Given the description of an element on the screen output the (x, y) to click on. 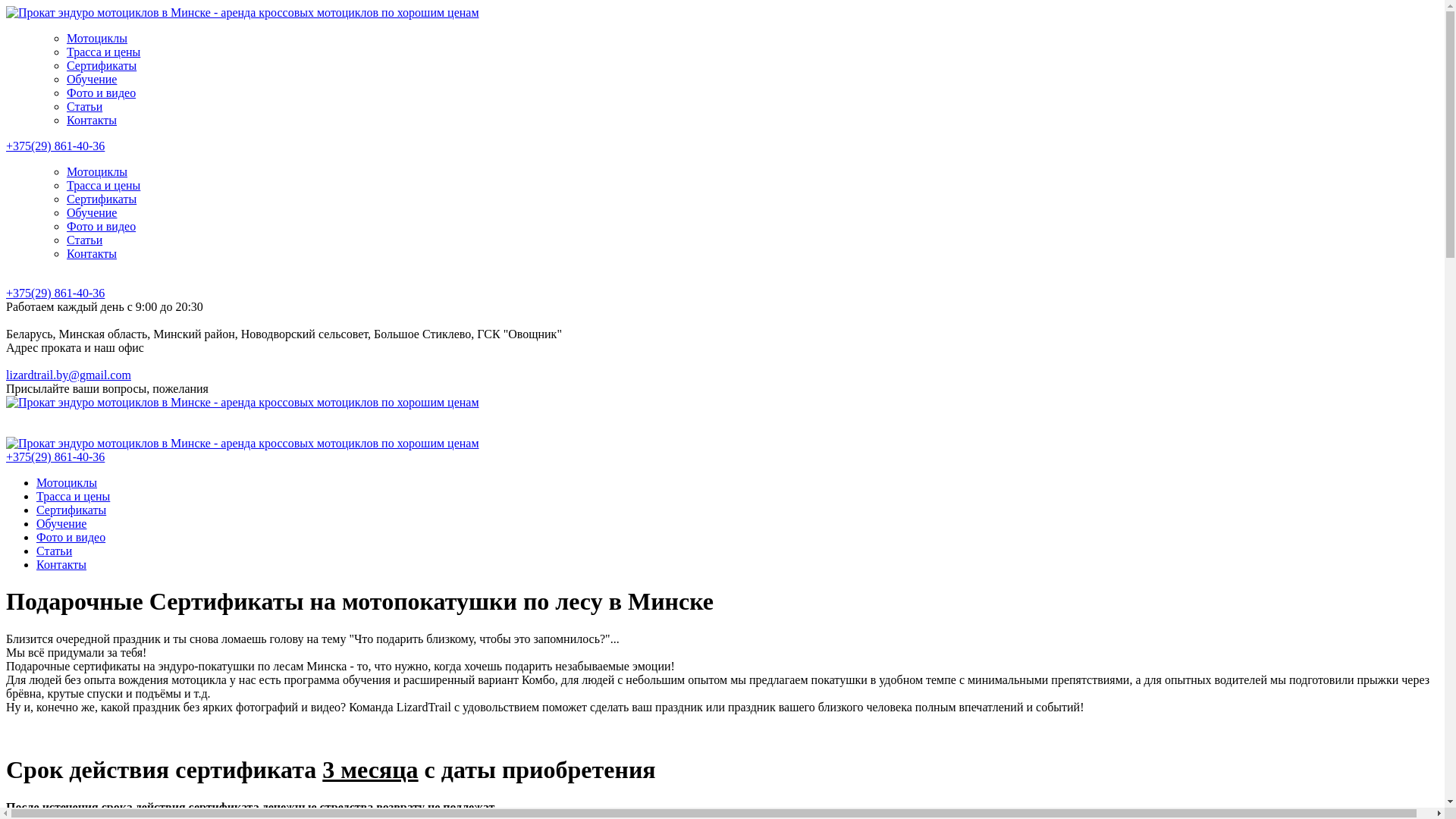
+375(29) 861-40-36 Element type: text (55, 456)
+375(29) 861-40-36 Element type: text (55, 145)
lizardtrail.by@gmail.com Element type: text (68, 374)
+375(29) 861-40-36 Element type: text (55, 292)
